Given the description of an element on the screen output the (x, y) to click on. 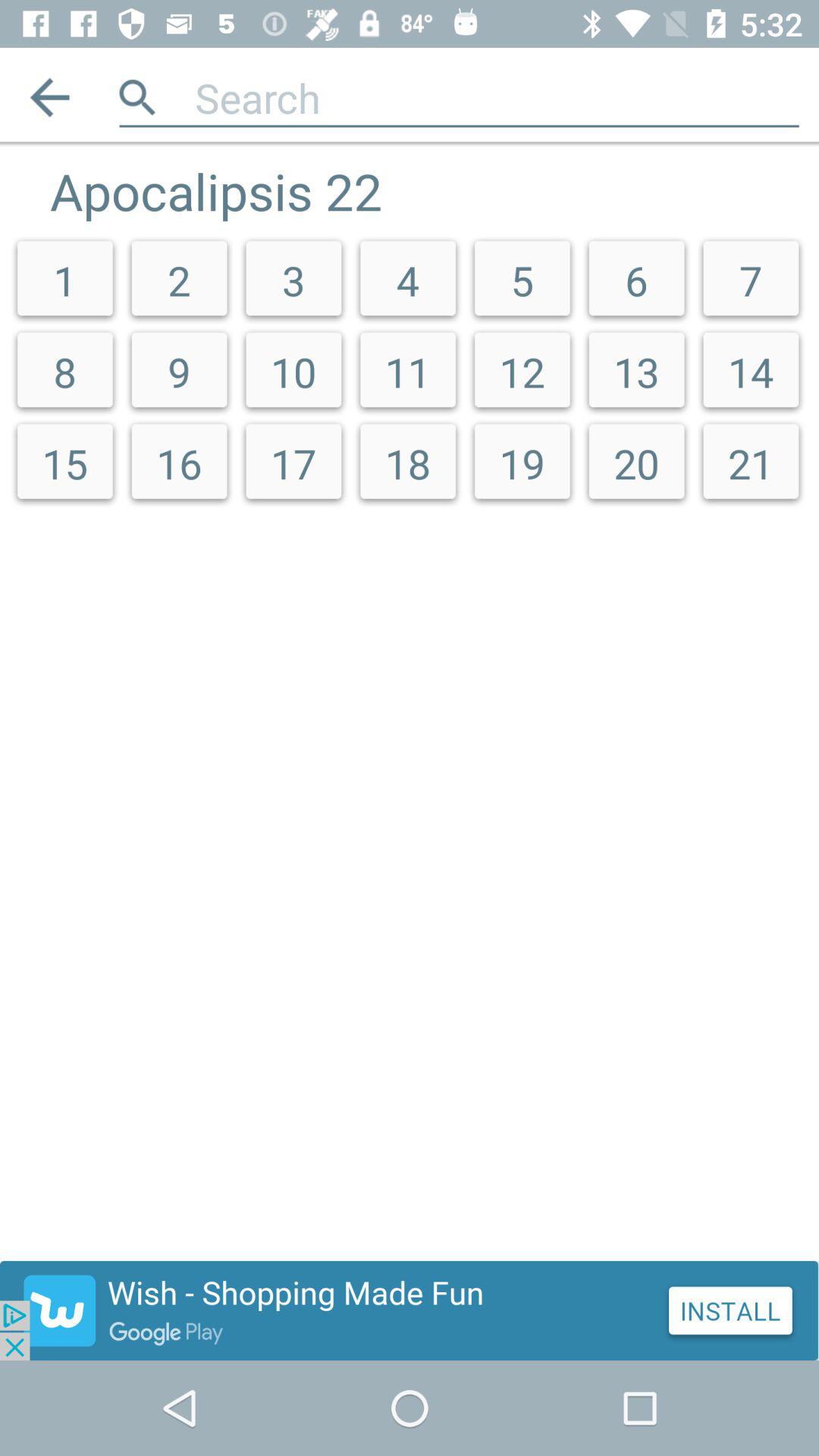
enter search query (497, 97)
